Given the description of an element on the screen output the (x, y) to click on. 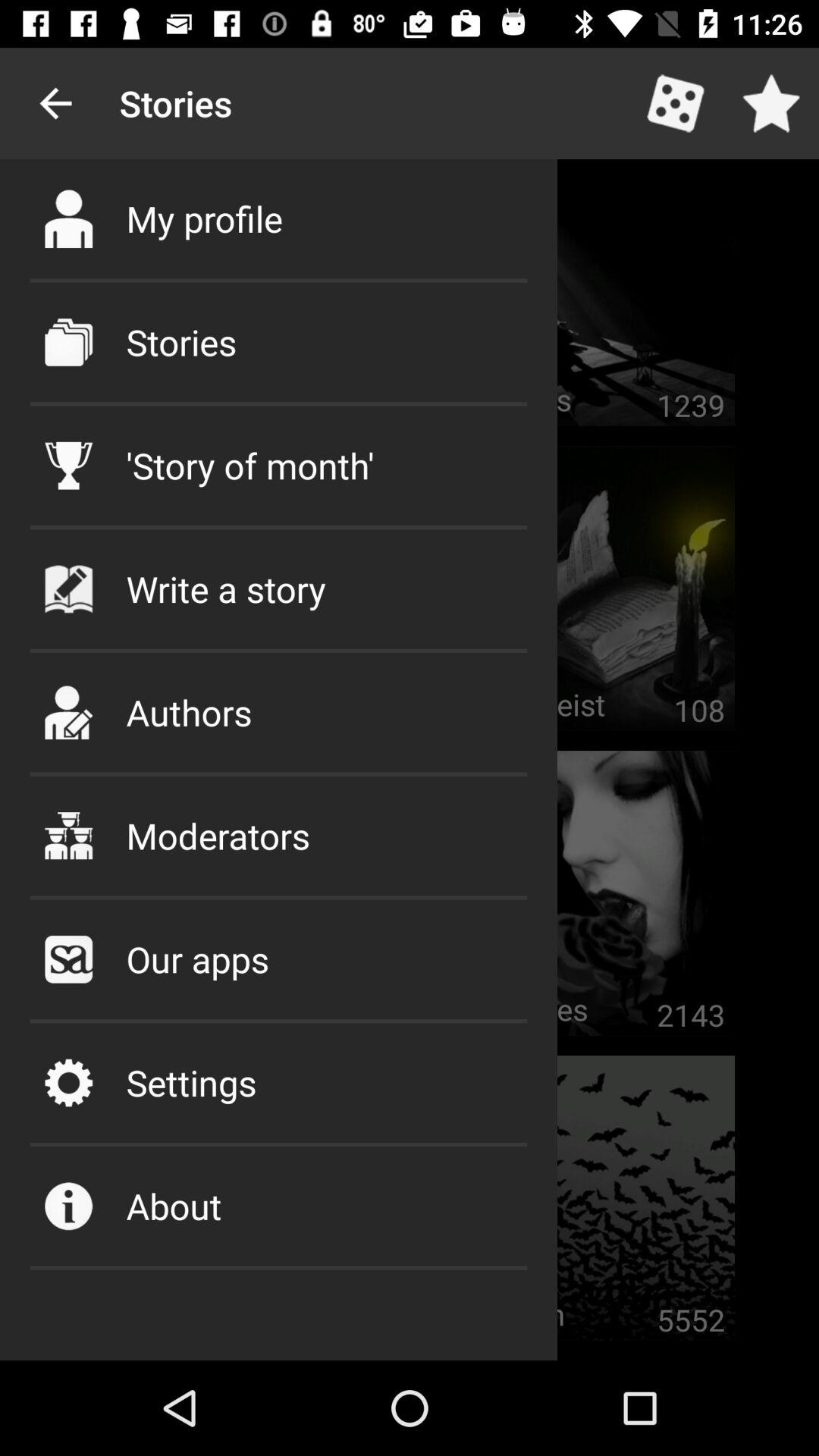
click on the third icon from top under stories (68, 465)
